Given the description of an element on the screen output the (x, y) to click on. 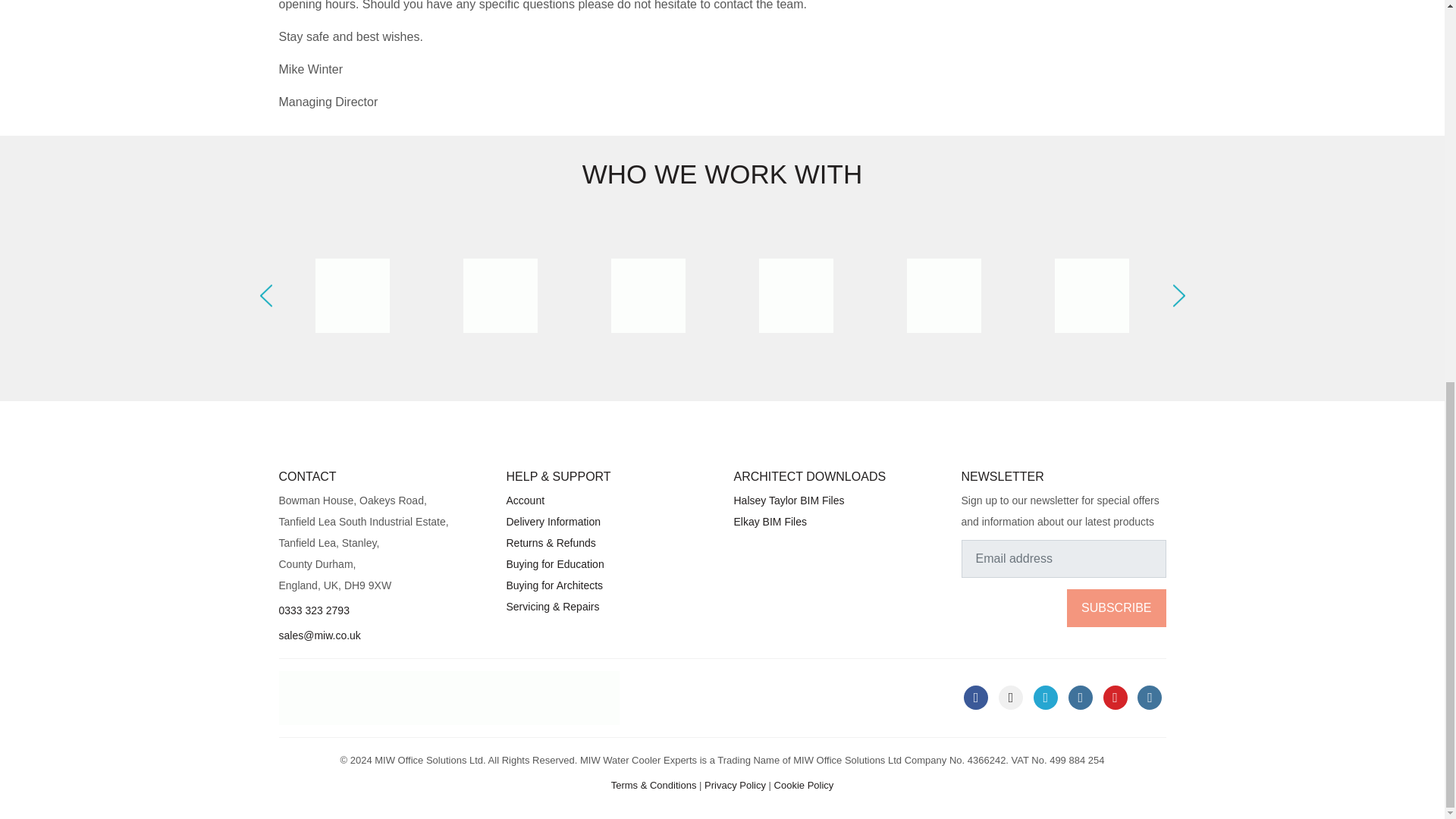
LinkedIn (1010, 697)
Instagram (1080, 697)
Vimeo (1149, 697)
Twitter (1045, 697)
Facebook (975, 697)
Youtube (1114, 697)
